Given the description of an element on the screen output the (x, y) to click on. 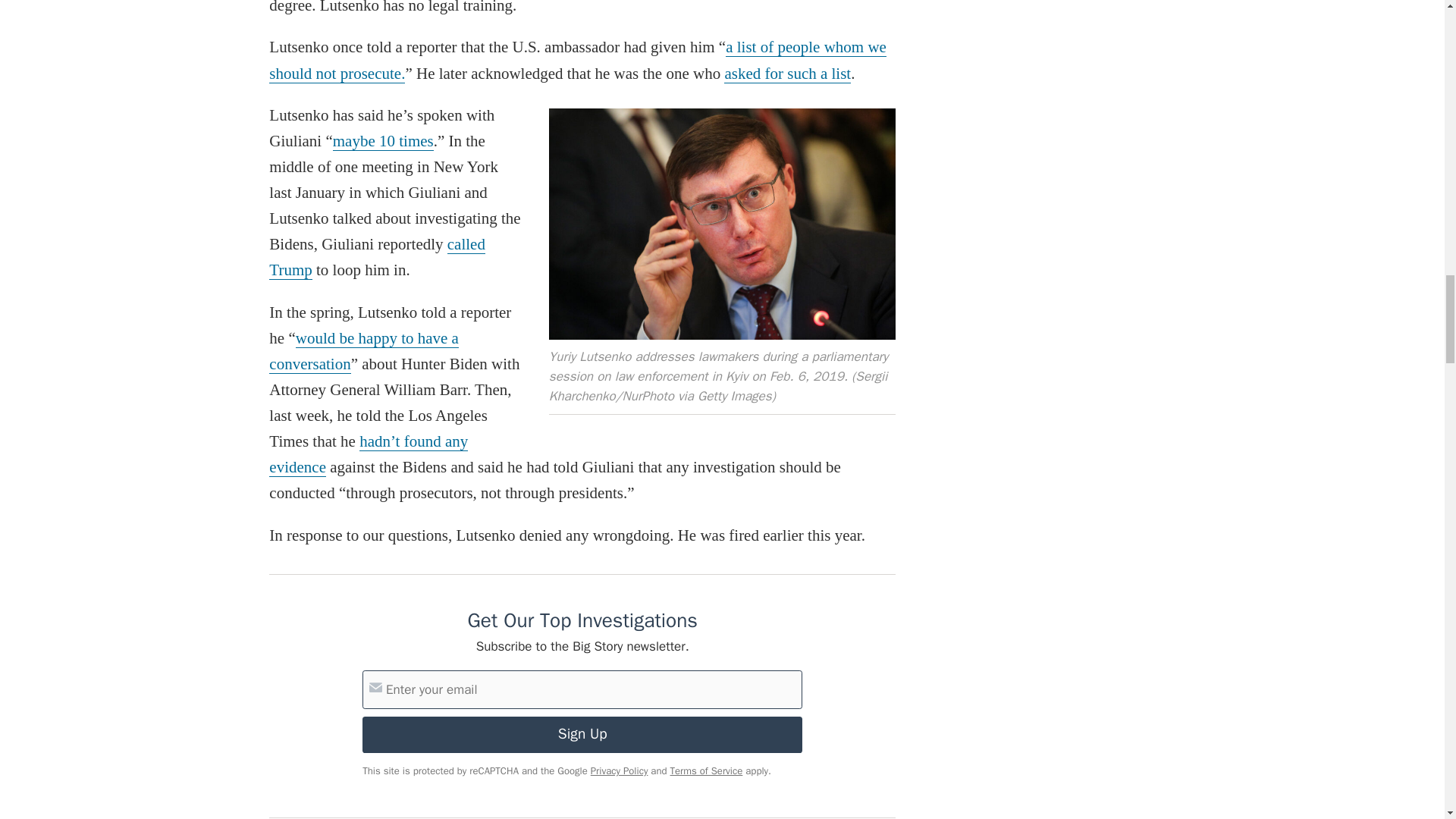
Sign Up (582, 734)
asked for such a list (786, 73)
a list of people whom we should not prosecute. (577, 59)
maybe 10 times (383, 140)
